Given the description of an element on the screen output the (x, y) to click on. 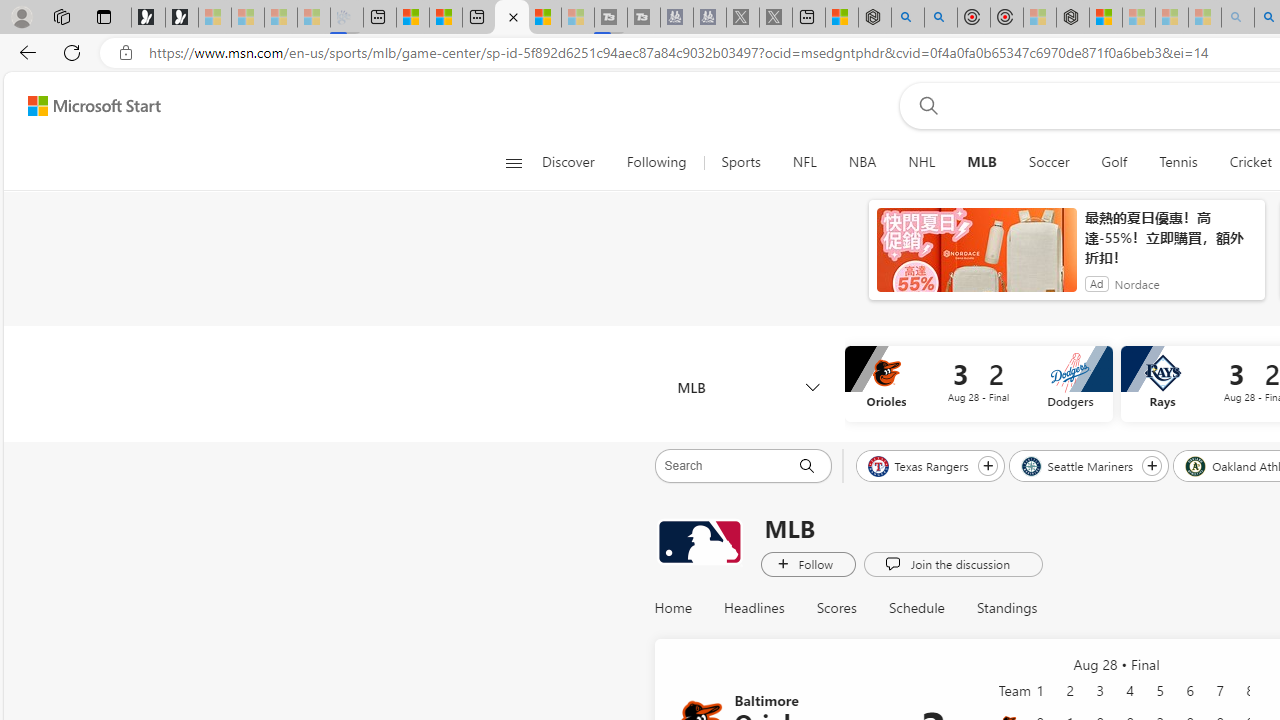
Seattle Mariners (1078, 465)
Follow MLB 2024 (808, 563)
Open navigation menu (513, 162)
Headlines (754, 607)
Tennis (1178, 162)
Home (681, 607)
Scores (836, 607)
Standings (999, 607)
Skip to footer (82, 105)
